Given the description of an element on the screen output the (x, y) to click on. 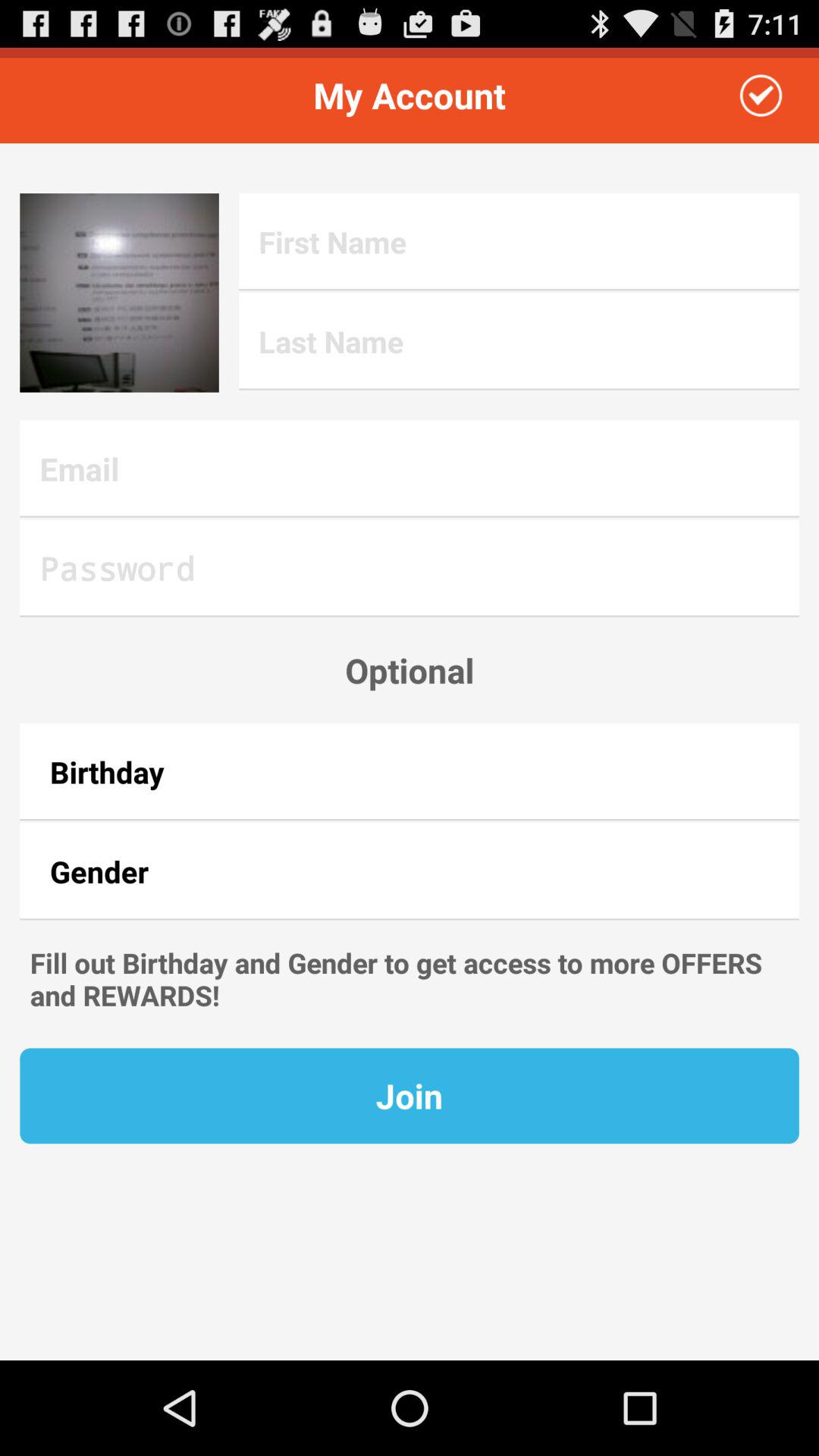
turn on the app below the fill out birthday app (409, 1095)
